Given the description of an element on the screen output the (x, y) to click on. 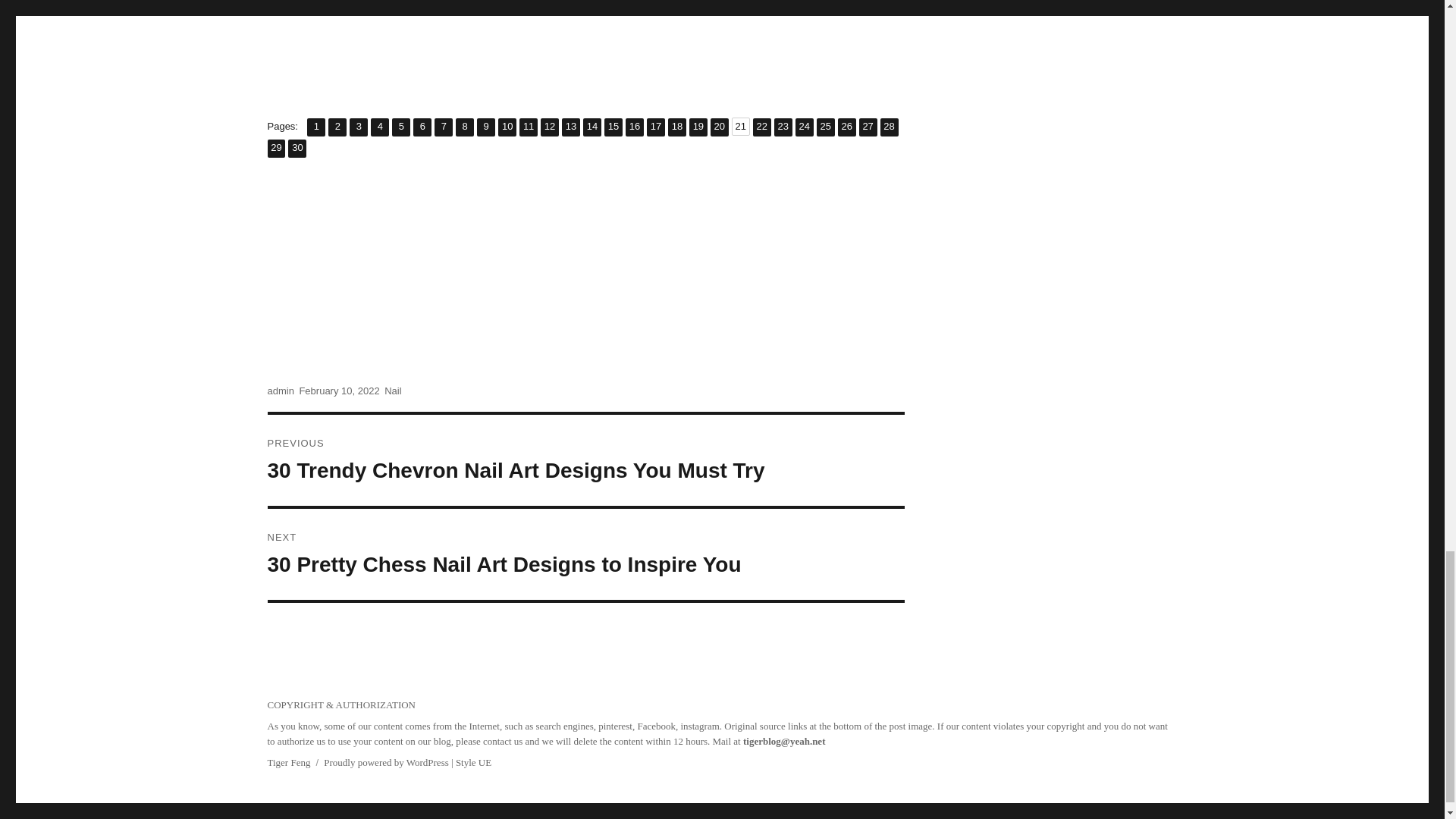
Advertisement (549, 126)
